Given the description of an element on the screen output the (x, y) to click on. 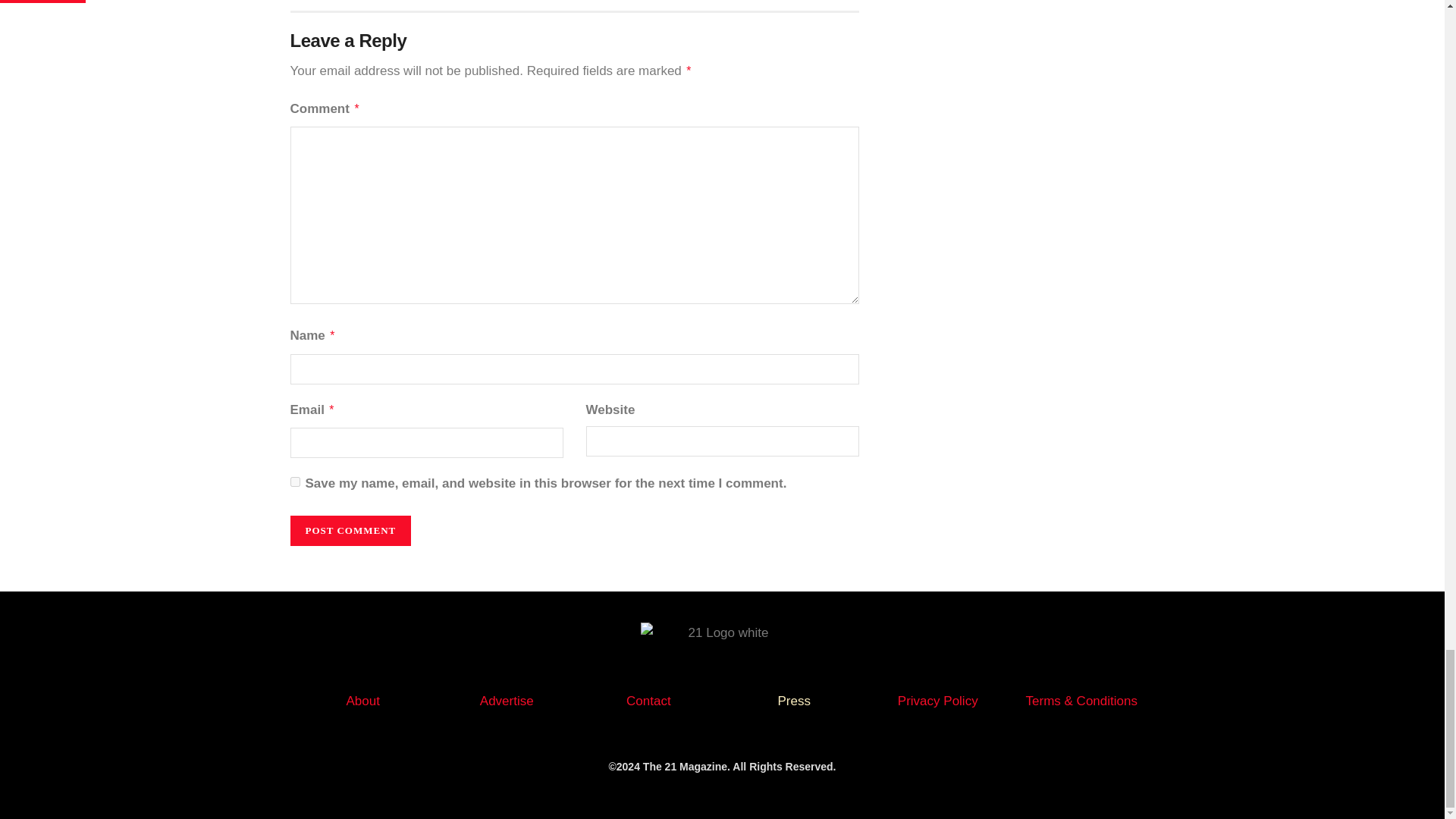
Post Comment (349, 530)
yes (294, 481)
